Given the description of an element on the screen output the (x, y) to click on. 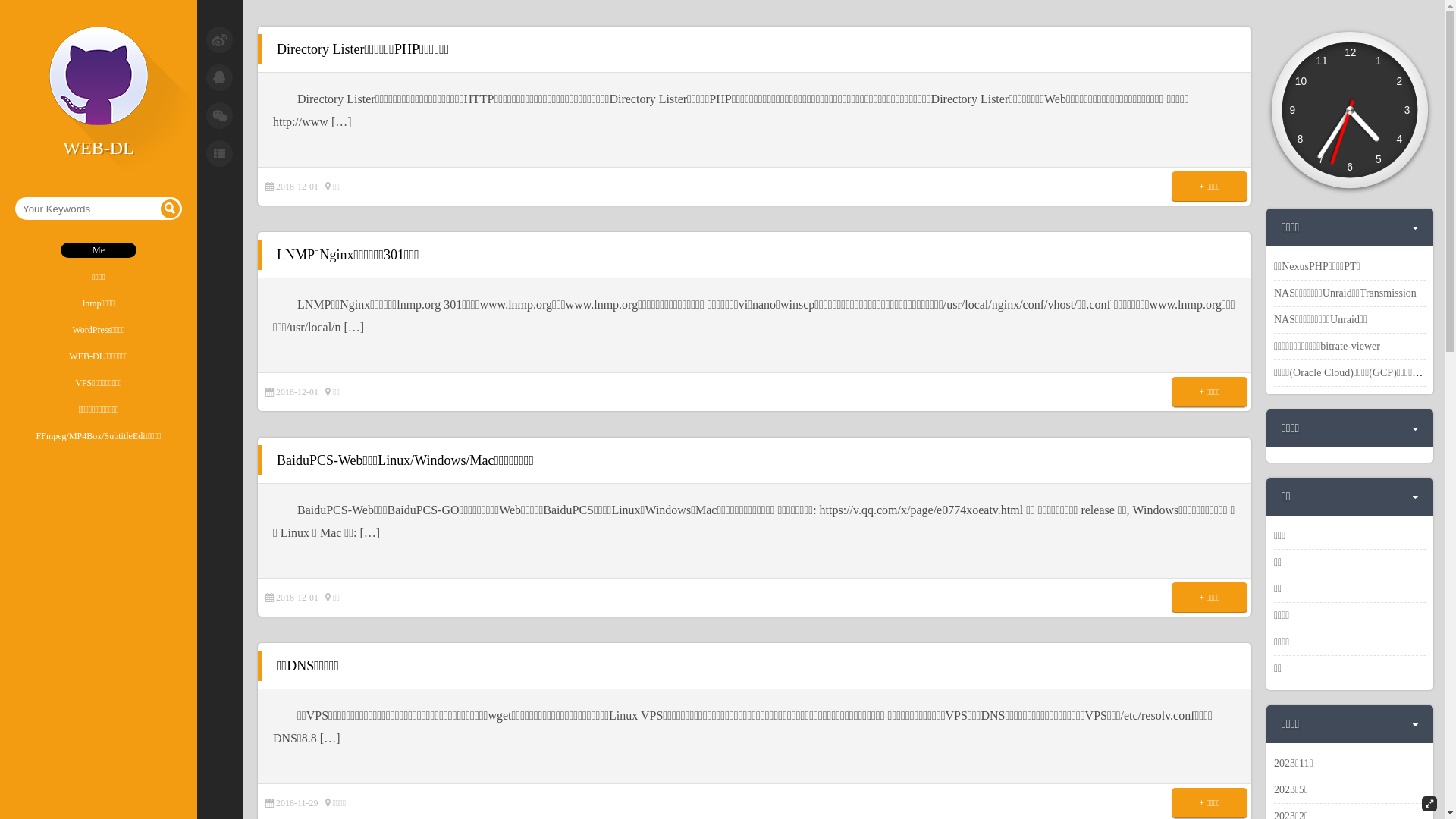
Me Element type: text (98, 249)
